Given the description of an element on the screen output the (x, y) to click on. 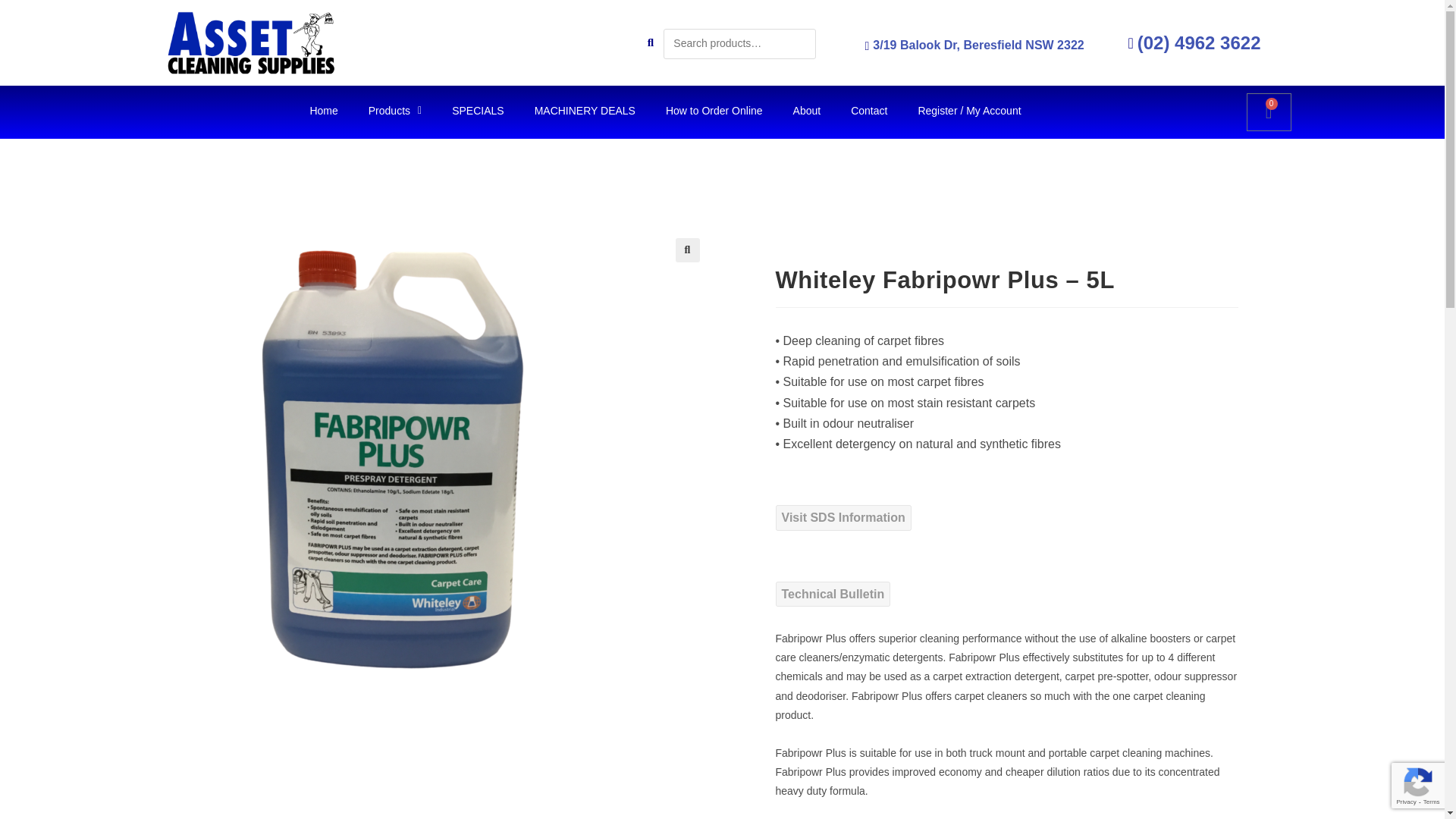
Home (323, 110)
Search (37, 15)
Products (394, 110)
